Given the description of an element on the screen output the (x, y) to click on. 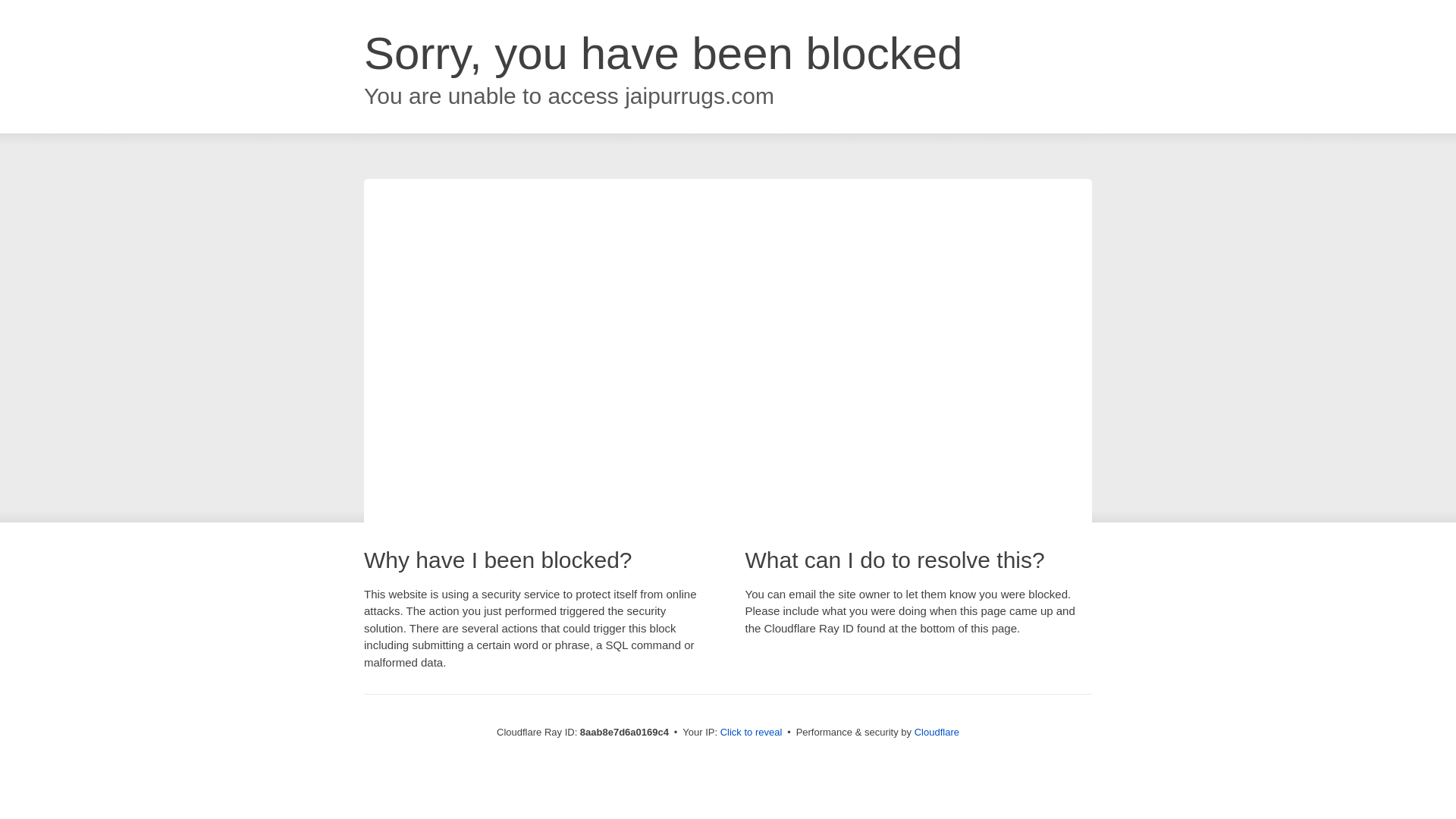
Click to reveal (751, 732)
Cloudflare (936, 731)
